Given the description of an element on the screen output the (x, y) to click on. 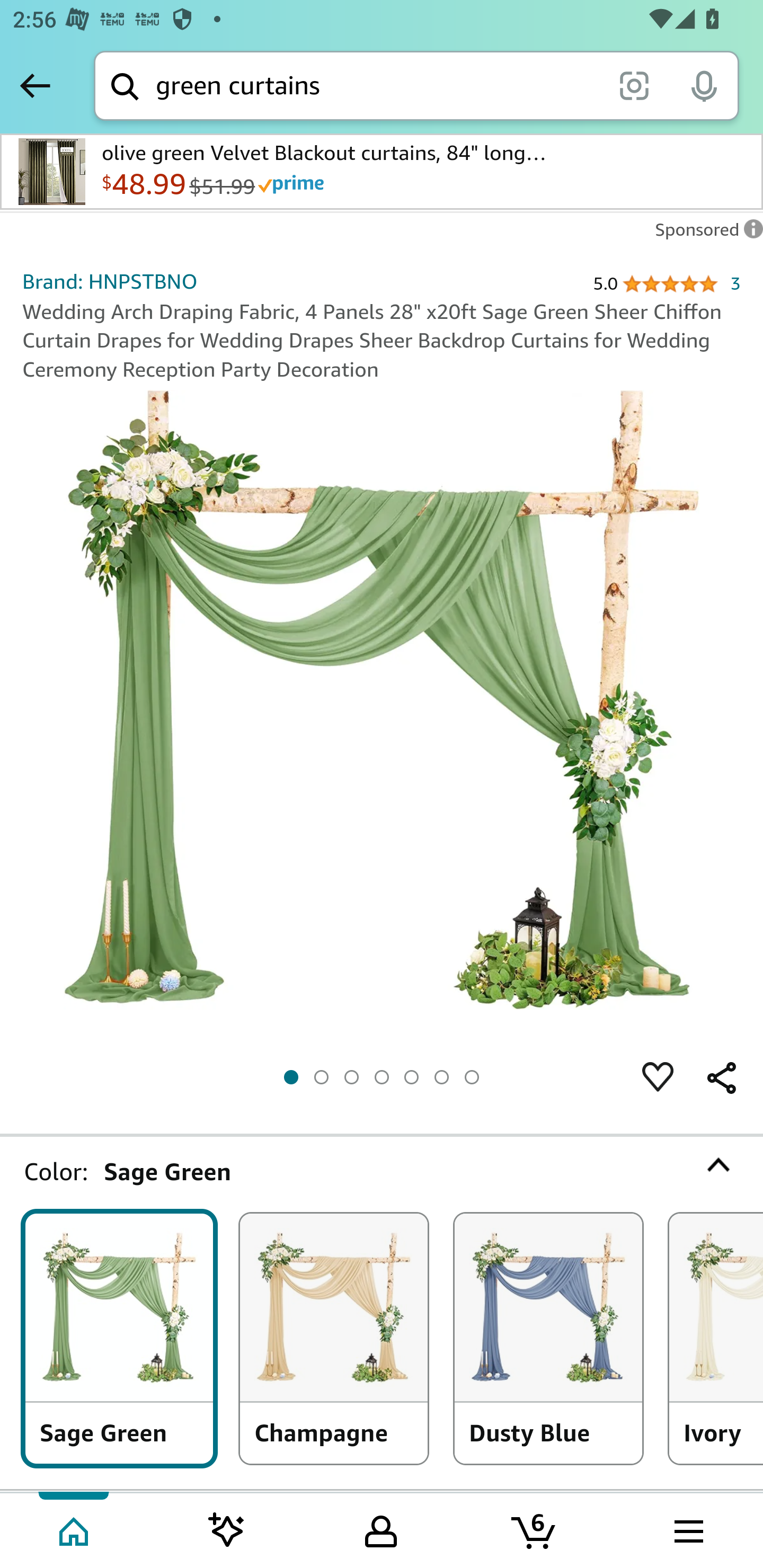
Back (35, 85)
scan it (633, 85)
Leave feedback on Sponsored ad Sponsored  (703, 234)
Brand: HNPSTBNO (110, 281)
Heart to save an item to your default list (657, 1077)
Sage Green (118, 1337)
Champagne (333, 1337)
Dusty Blue (548, 1337)
Ivory (716, 1337)
Home Tab 1 of 5 (75, 1529)
Inspire feed Tab 2 of 5 (227, 1529)
Your Amazon.com Tab 3 of 5 (380, 1529)
Cart 6 items Tab 4 of 5 6 (534, 1529)
Browse menu Tab 5 of 5 (687, 1529)
